Given the description of an element on the screen output the (x, y) to click on. 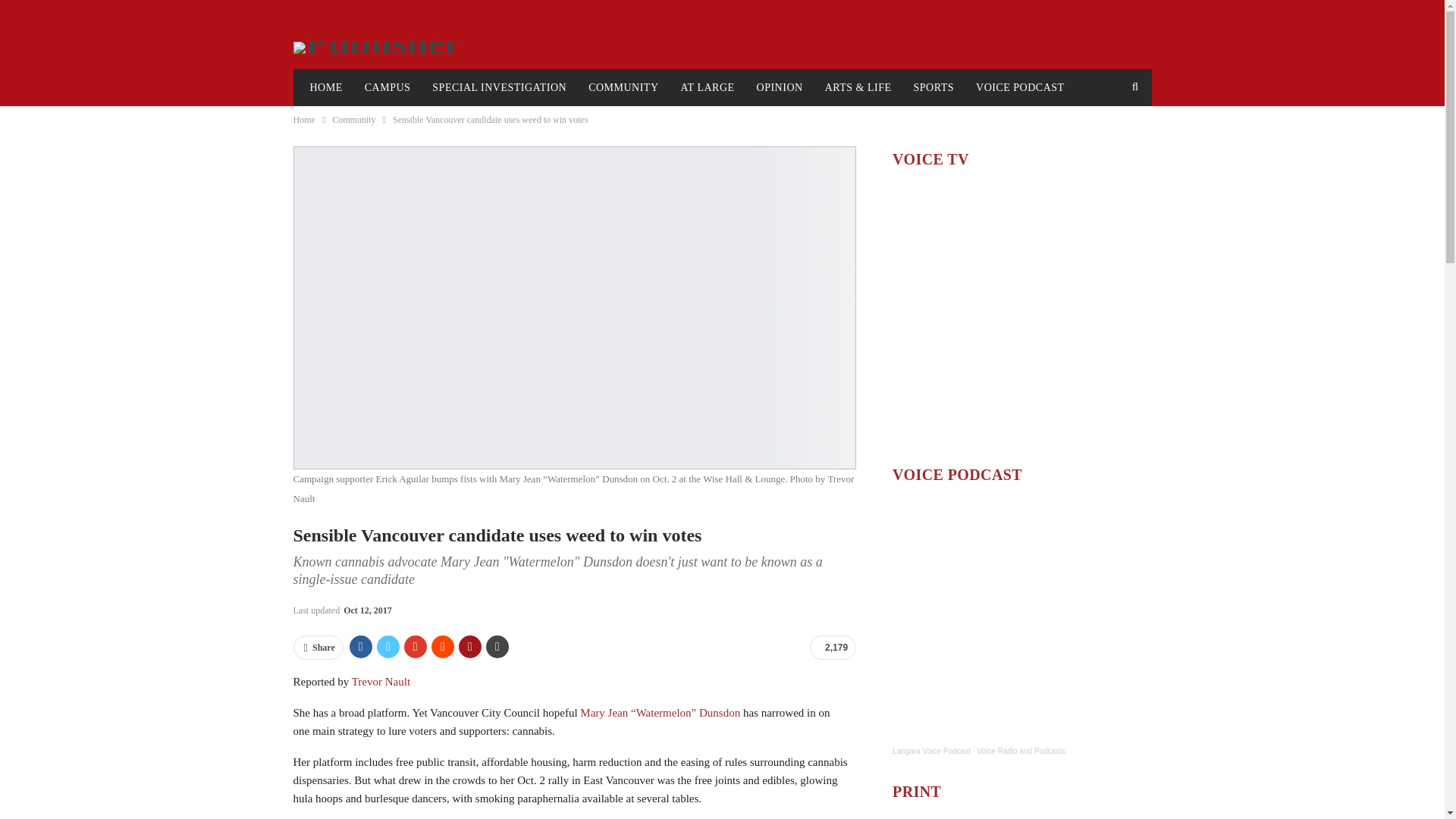
VOICE PODCAST (1020, 87)
YouTube video player (1021, 315)
Voice Radio and Podcasts (1020, 750)
Home (303, 119)
OPINION (780, 87)
SPORTS (933, 87)
Langara Voice Podcast (931, 750)
Langara Voice Podcast (931, 750)
Trevor Nault (381, 681)
CAMPUS (387, 87)
